Given the description of an element on the screen output the (x, y) to click on. 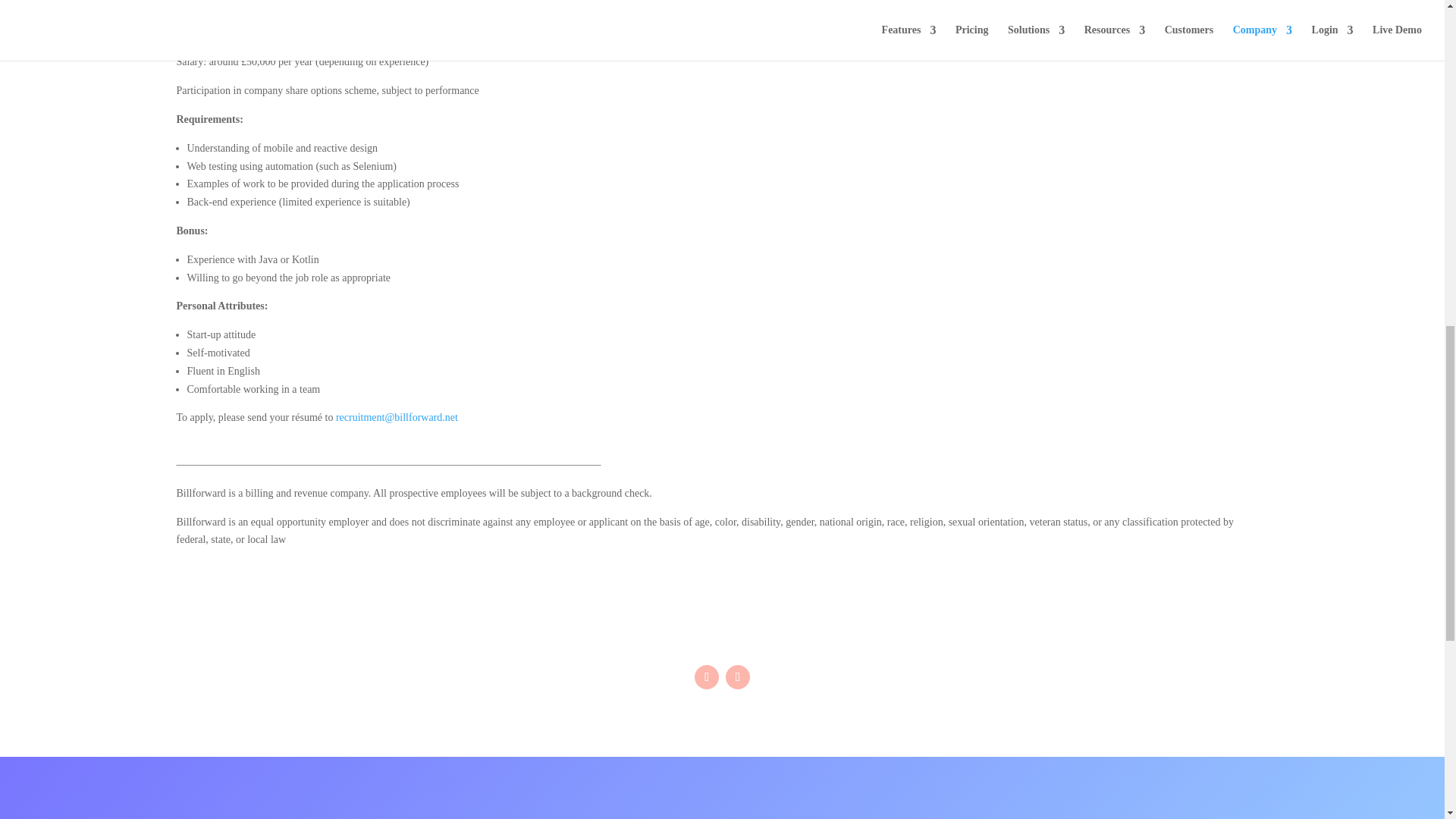
Follow on twitter (706, 677)
Follow on linkedin (737, 677)
